Given the description of an element on the screen output the (x, y) to click on. 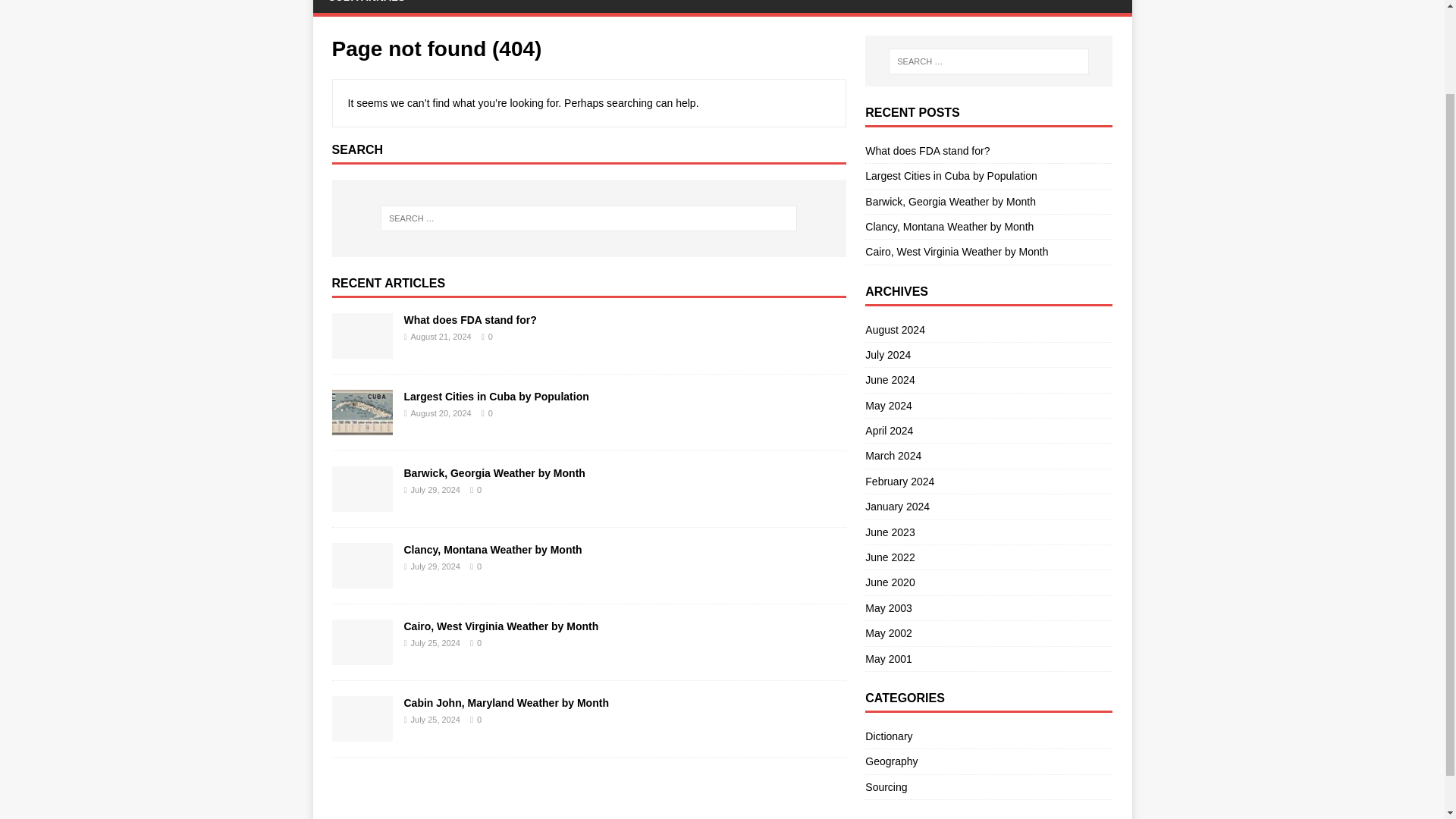
January 2024 (988, 506)
CUBA ANNALS (366, 6)
Cairo, West Virginia Weather by Month (362, 655)
Cairo, West Virginia Weather by Month (500, 625)
April 2024 (988, 430)
June 2020 (988, 582)
Clancy, Montana Weather by Month (491, 549)
August 2024 (988, 331)
Cairo, West Virginia Weather by Month (500, 625)
Barwick, Georgia Weather by Month (494, 472)
